Given the description of an element on the screen output the (x, y) to click on. 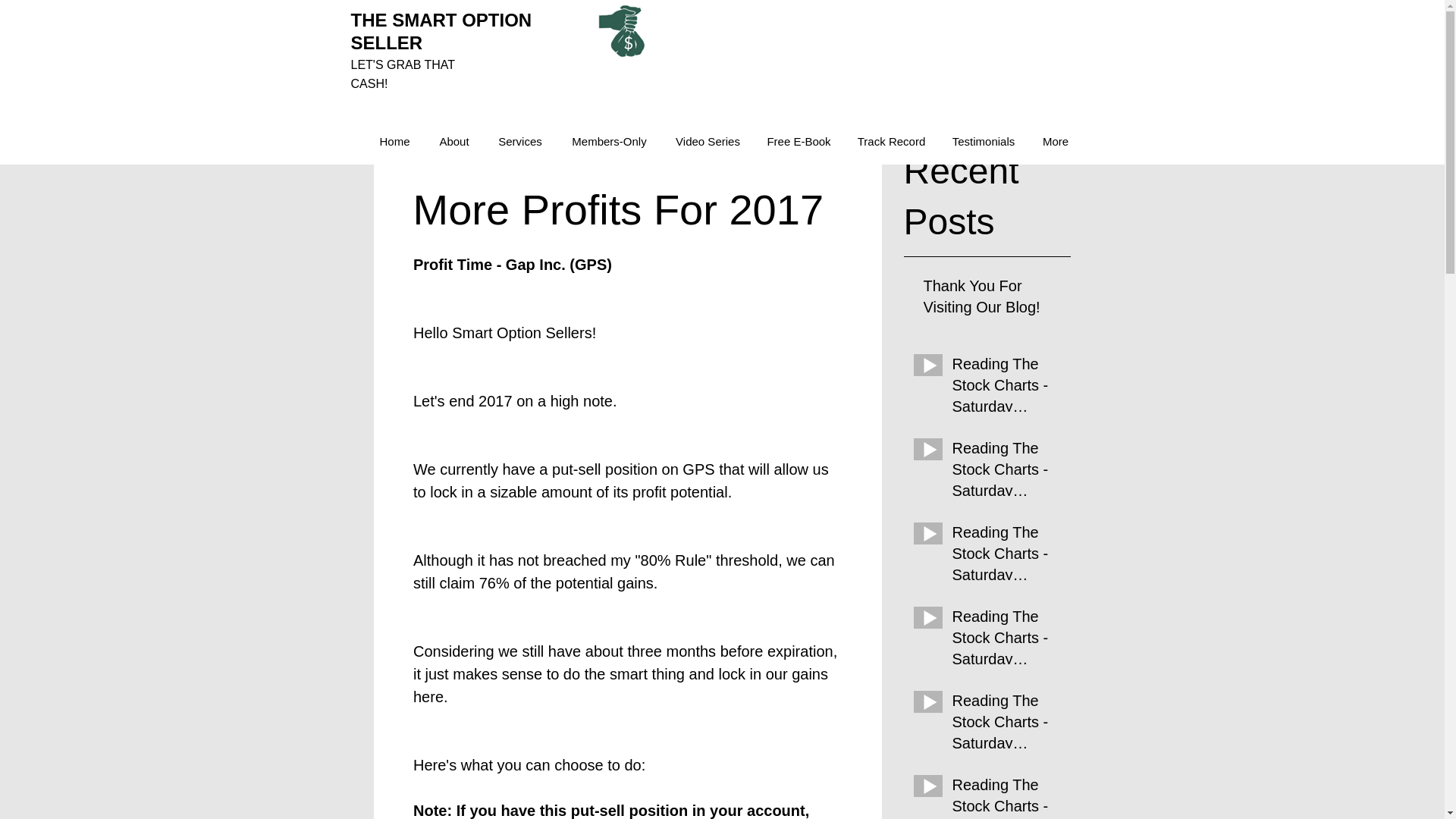
Track Record (890, 141)
Thank You For Visiting Our Blog! (992, 299)
Free E-Book (799, 141)
Services (519, 141)
About (454, 141)
Video Series (706, 141)
Home (395, 141)
Testimonials (983, 141)
